Given the description of an element on the screen output the (x, y) to click on. 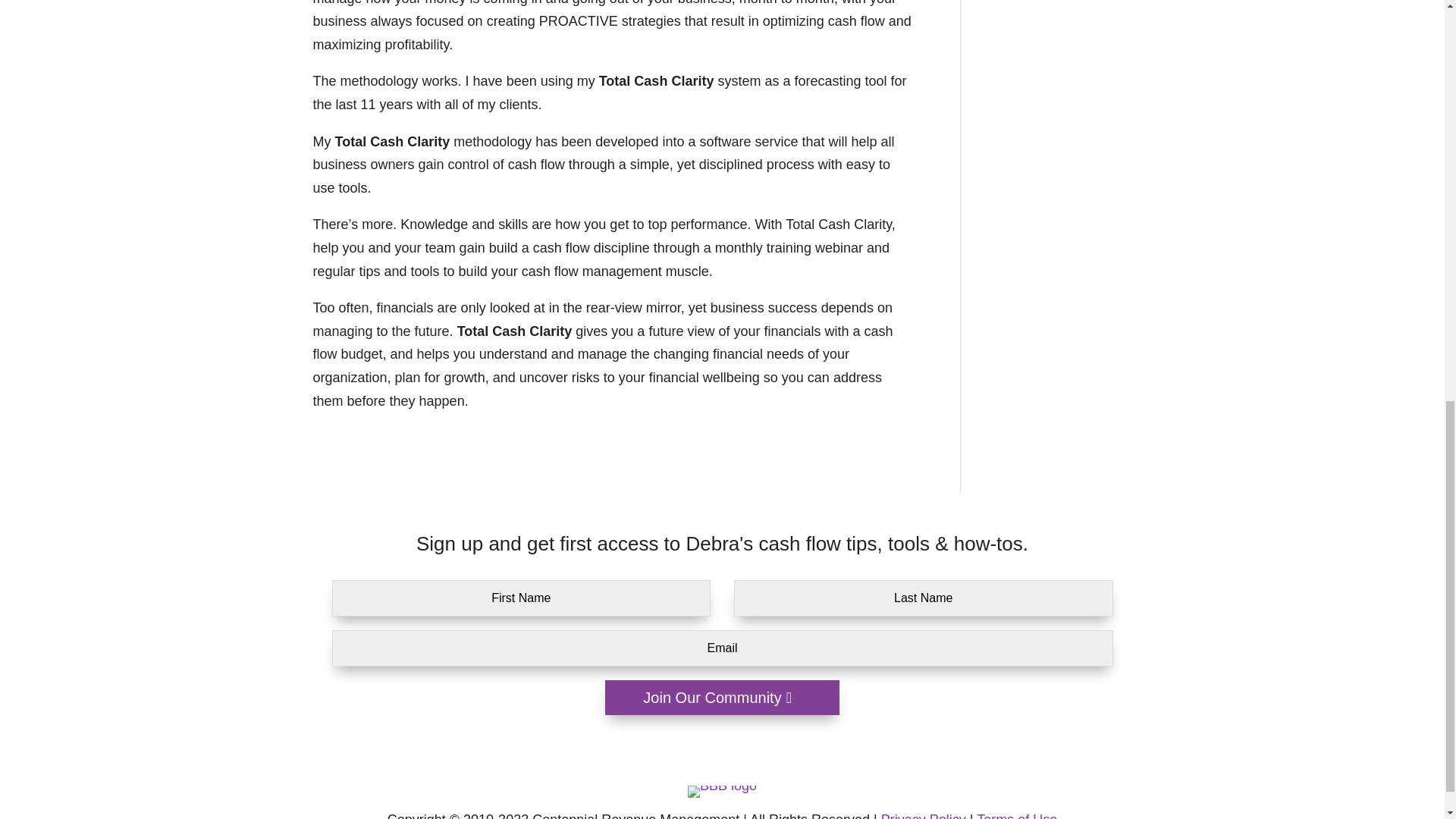
black-seal-96-50-centennialrevenuemanagementllc-90167722 (722, 791)
Privacy Policy (923, 815)
Terms of Use (1016, 815)
Join Our Community (722, 697)
